Given the description of an element on the screen output the (x, y) to click on. 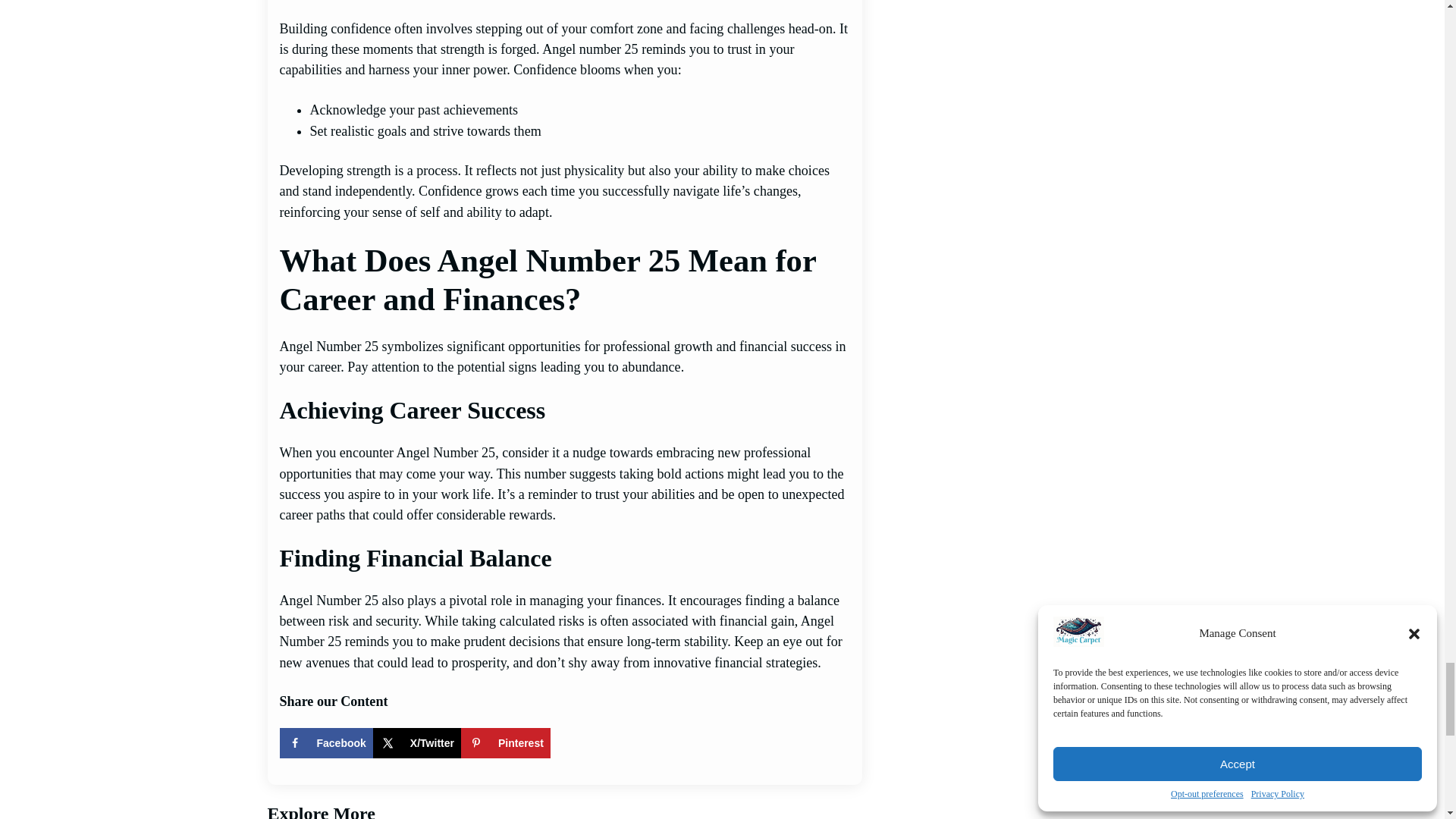
Pinterest (505, 743)
Share on Facebook (325, 743)
Save to Pinterest (505, 743)
Facebook (325, 743)
Share on X (416, 743)
